Given the description of an element on the screen output the (x, y) to click on. 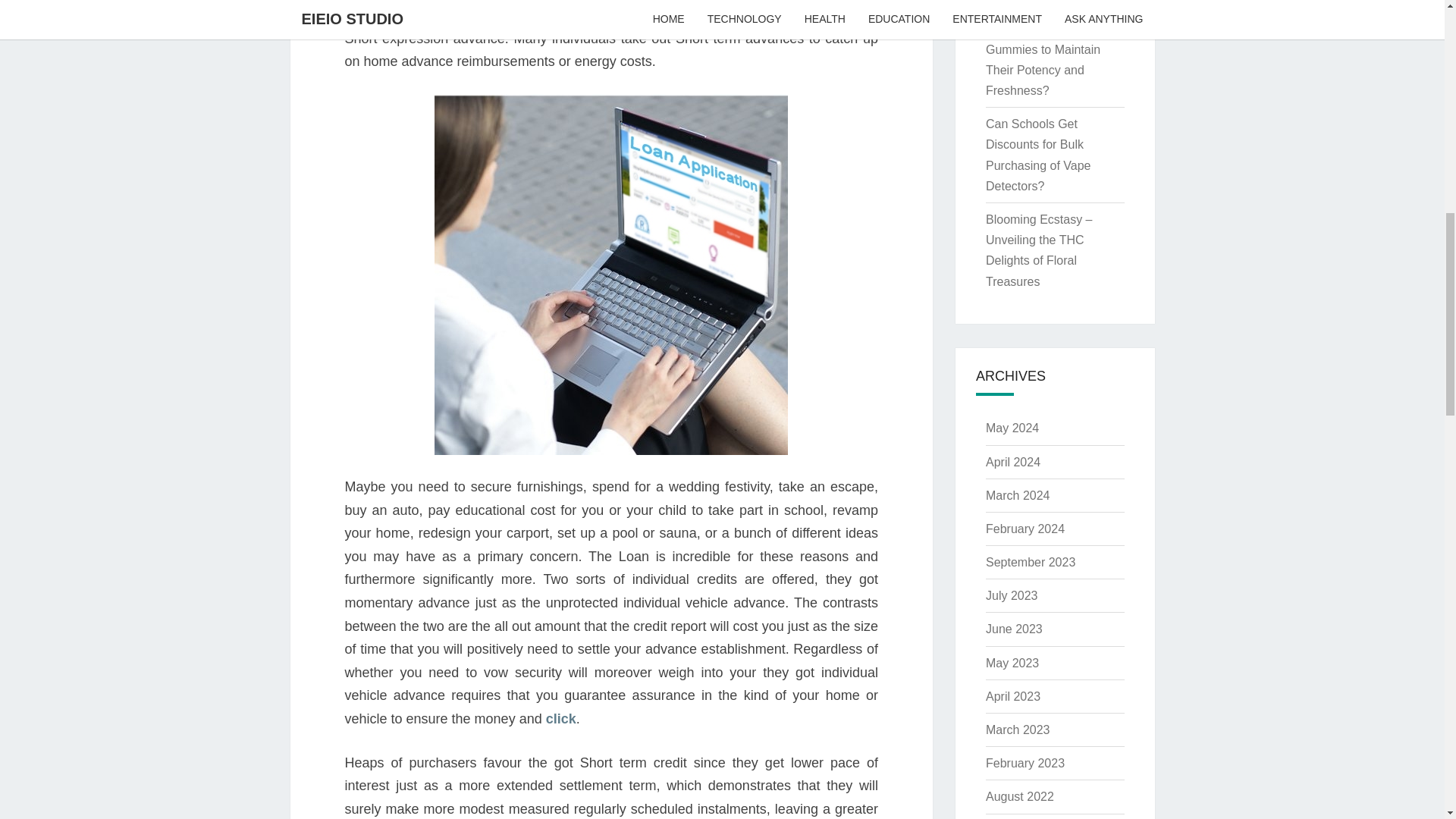
April 2024 (1013, 461)
February 2024 (1024, 528)
May 2024 (1012, 427)
June 2023 (1013, 628)
August 2022 (1019, 796)
March 2023 (1017, 729)
July 2023 (1011, 594)
May 2023 (1012, 662)
March 2024 (1017, 495)
February 2023 (1024, 762)
September 2023 (1030, 562)
click (561, 718)
April 2023 (1013, 696)
